Given the description of an element on the screen output the (x, y) to click on. 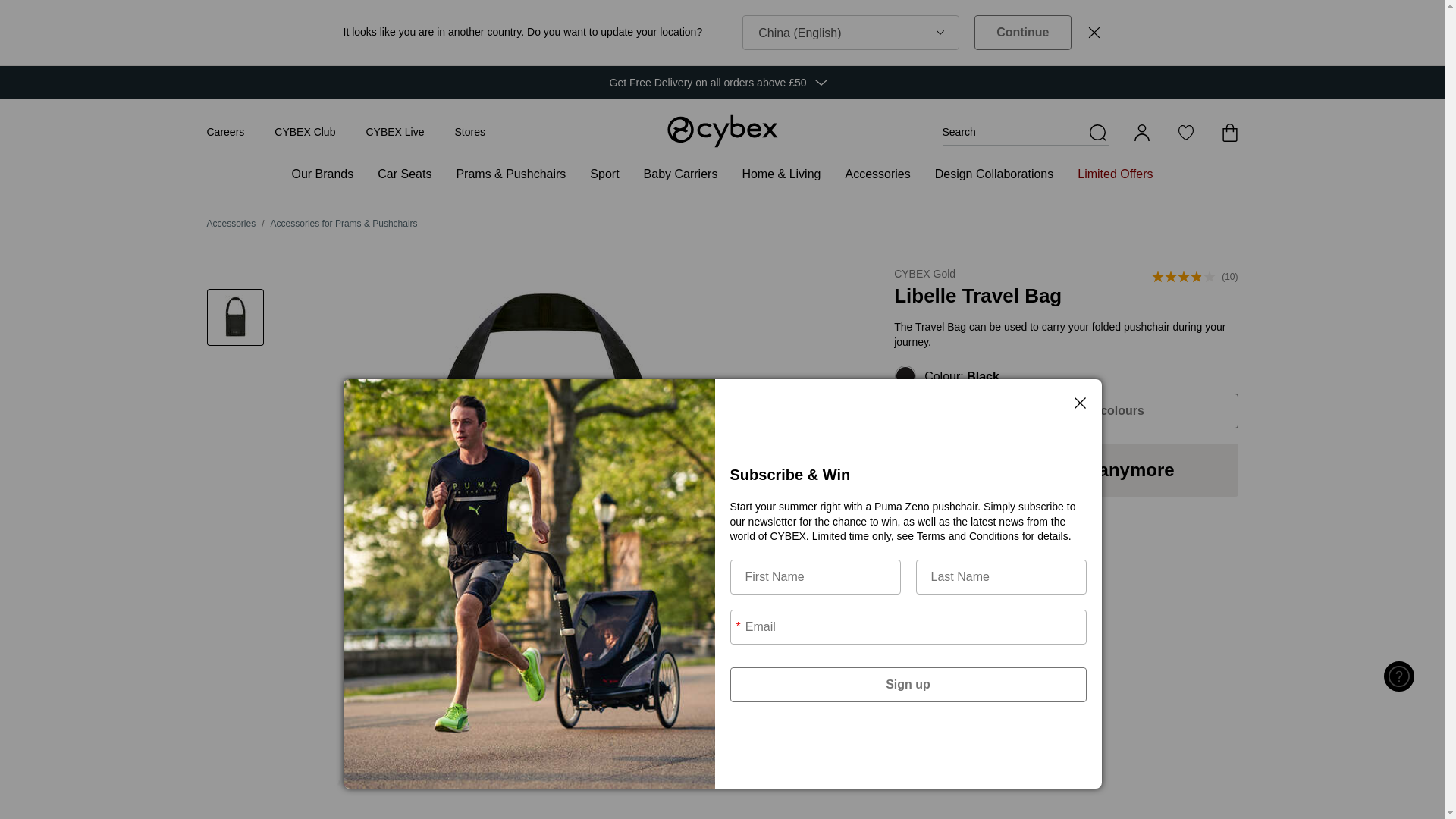
Home (720, 130)
Careers (225, 132)
Close (1093, 32)
CYBEX Club (304, 132)
Car Seats (403, 172)
View Cart (1228, 132)
CYBEX Live (394, 132)
Stores (469, 132)
Our Brands (322, 172)
Wish List (1184, 132)
Continue (1022, 32)
Search (1025, 132)
